Given the description of an element on the screen output the (x, y) to click on. 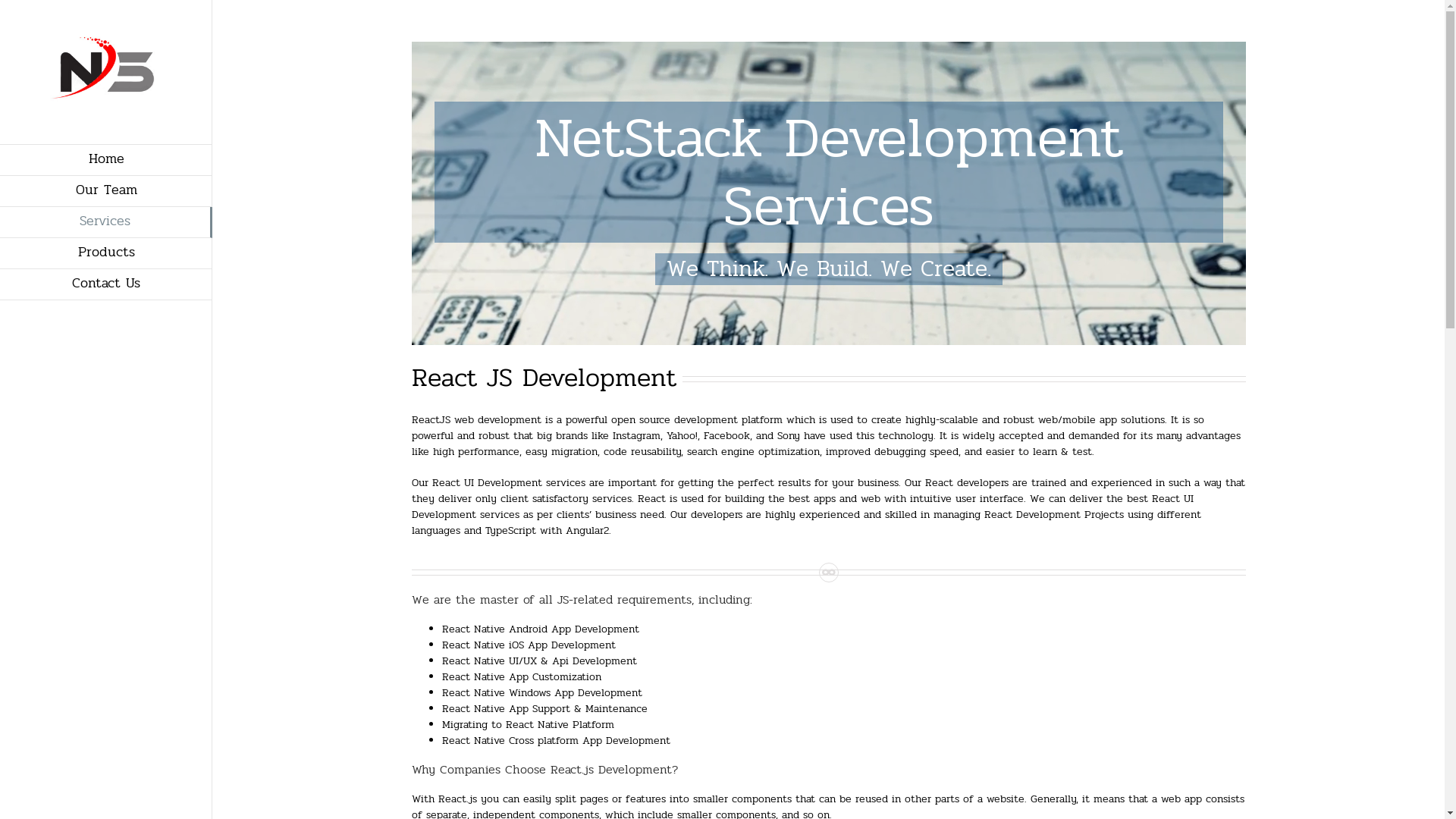
Products Element type: text (106, 253)
Services Element type: text (106, 222)
Contact Us Element type: text (106, 284)
Home Element type: text (106, 159)
Our Team Element type: text (106, 191)
